Given the description of an element on the screen output the (x, y) to click on. 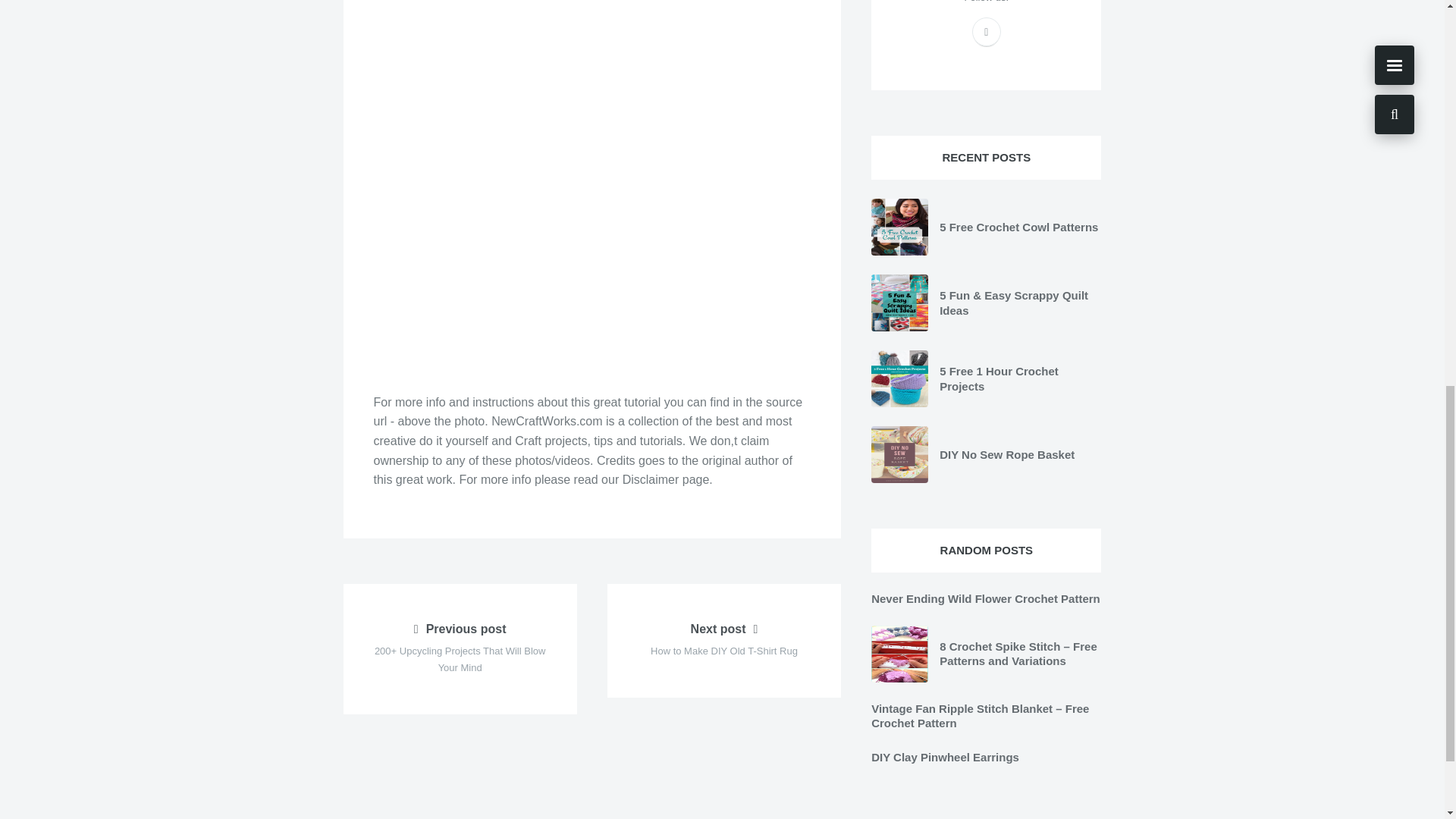
5 Free 1 Hour Crochet Projects (998, 378)
Never Ending Wild Flower Crochet Pattern (985, 598)
5 Free Crochet Cowl Patterns (724, 640)
DIY No Sew Rope Basket (1018, 226)
